Given the description of an element on the screen output the (x, y) to click on. 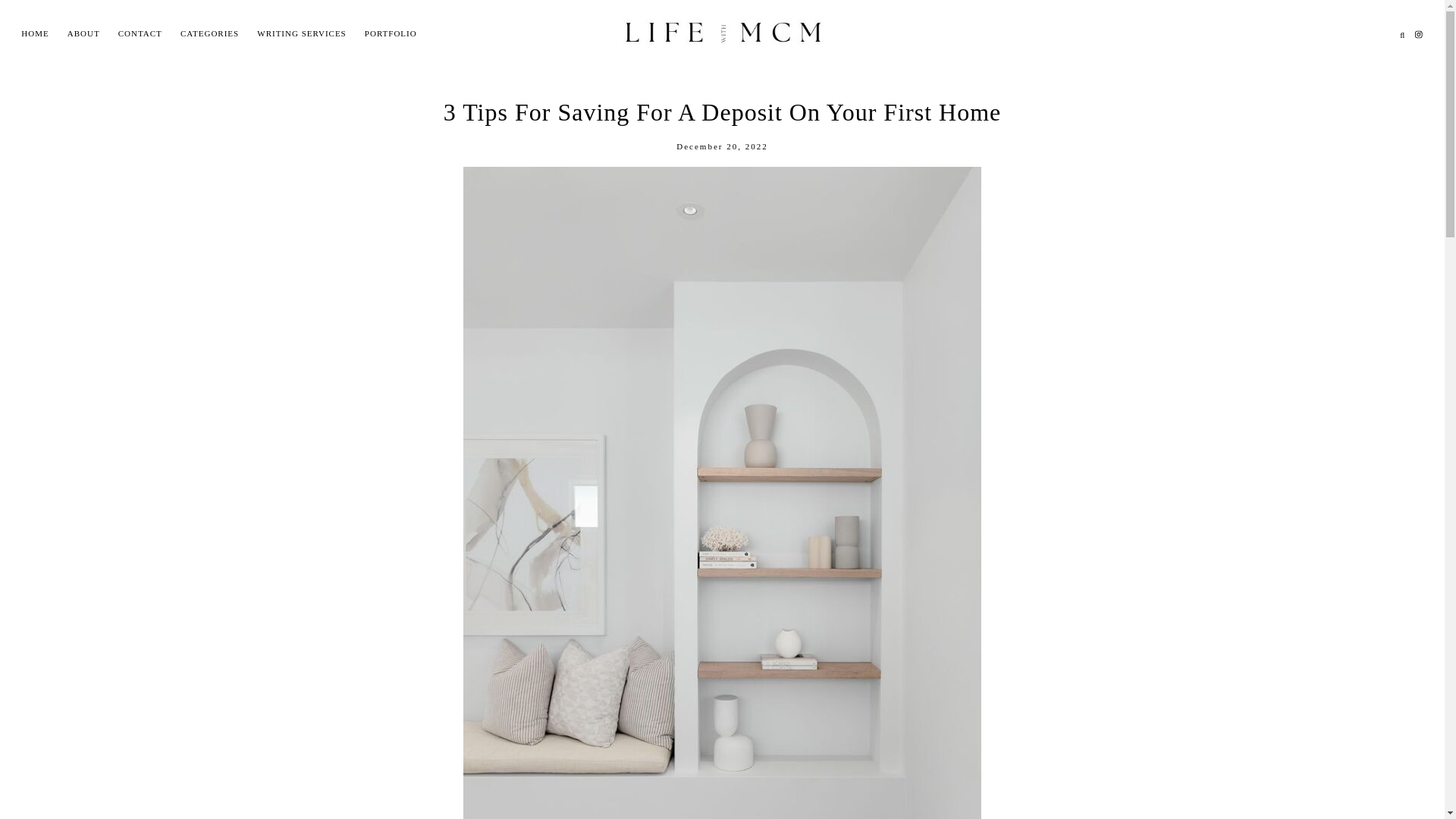
3 Tips For Saving For A Deposit On Your First Home (721, 112)
ABOUT (83, 33)
WRITING SERVICES (301, 33)
CATEGORIES (209, 33)
CONTACT (140, 33)
PORTFOLIO (390, 33)
HOME (35, 33)
